Given the description of an element on the screen output the (x, y) to click on. 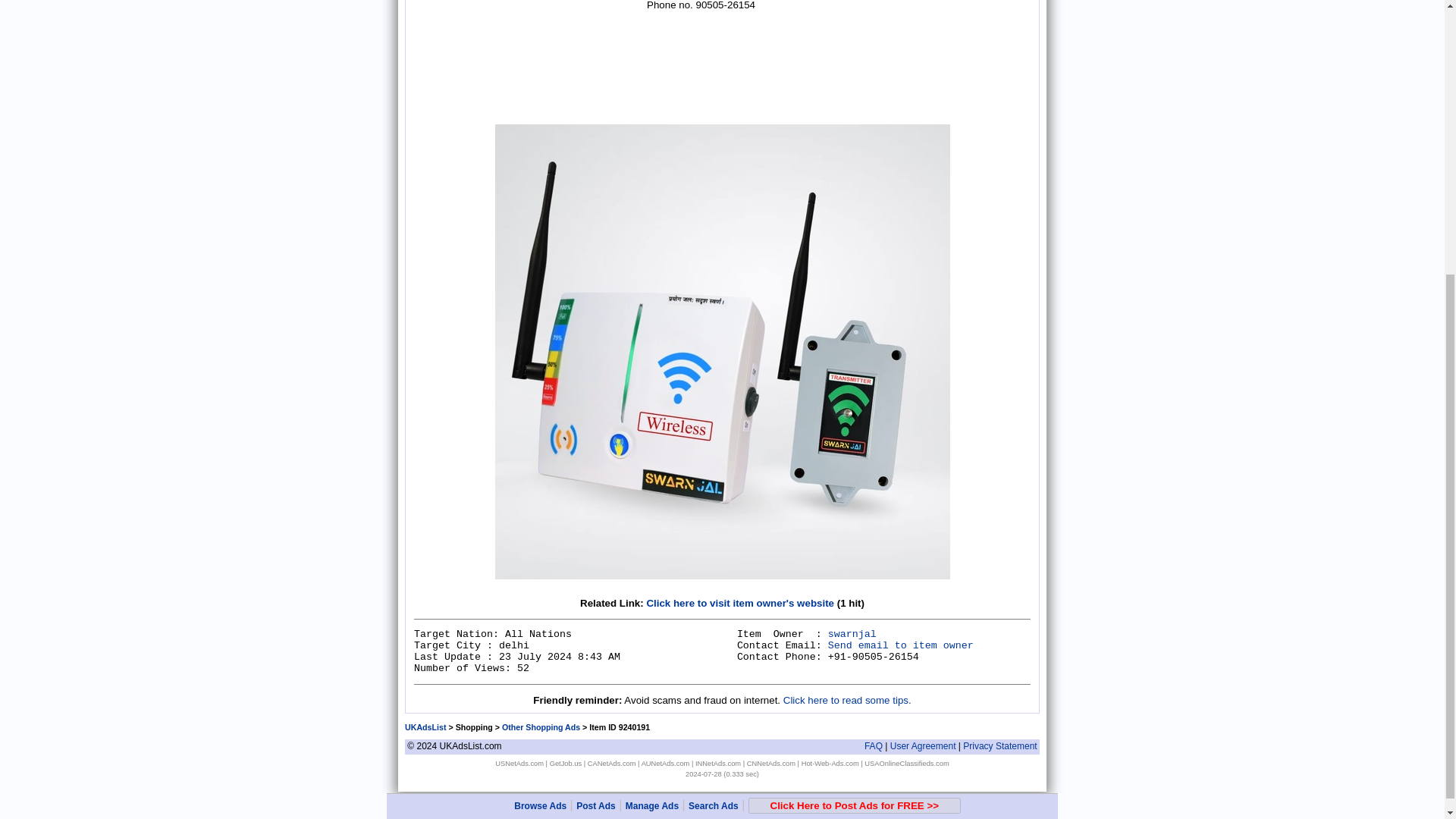
FAQ (873, 746)
USNetAds.com (519, 763)
Post Ads (595, 394)
Go Back to UKAdsList.com Home Page (424, 727)
Click here to visit item owner's website (740, 603)
Browse all items posted by this owner (852, 633)
Click here to read some tips. (847, 699)
AUNetAds.com (666, 763)
UKAdsList (424, 727)
Other Shopping Ads (540, 727)
Privacy Statement (999, 746)
Search Ads (713, 394)
Advertisement (527, 59)
INNetAds.com (718, 763)
Hot-Web-Ads.com (830, 763)
